Given the description of an element on the screen output the (x, y) to click on. 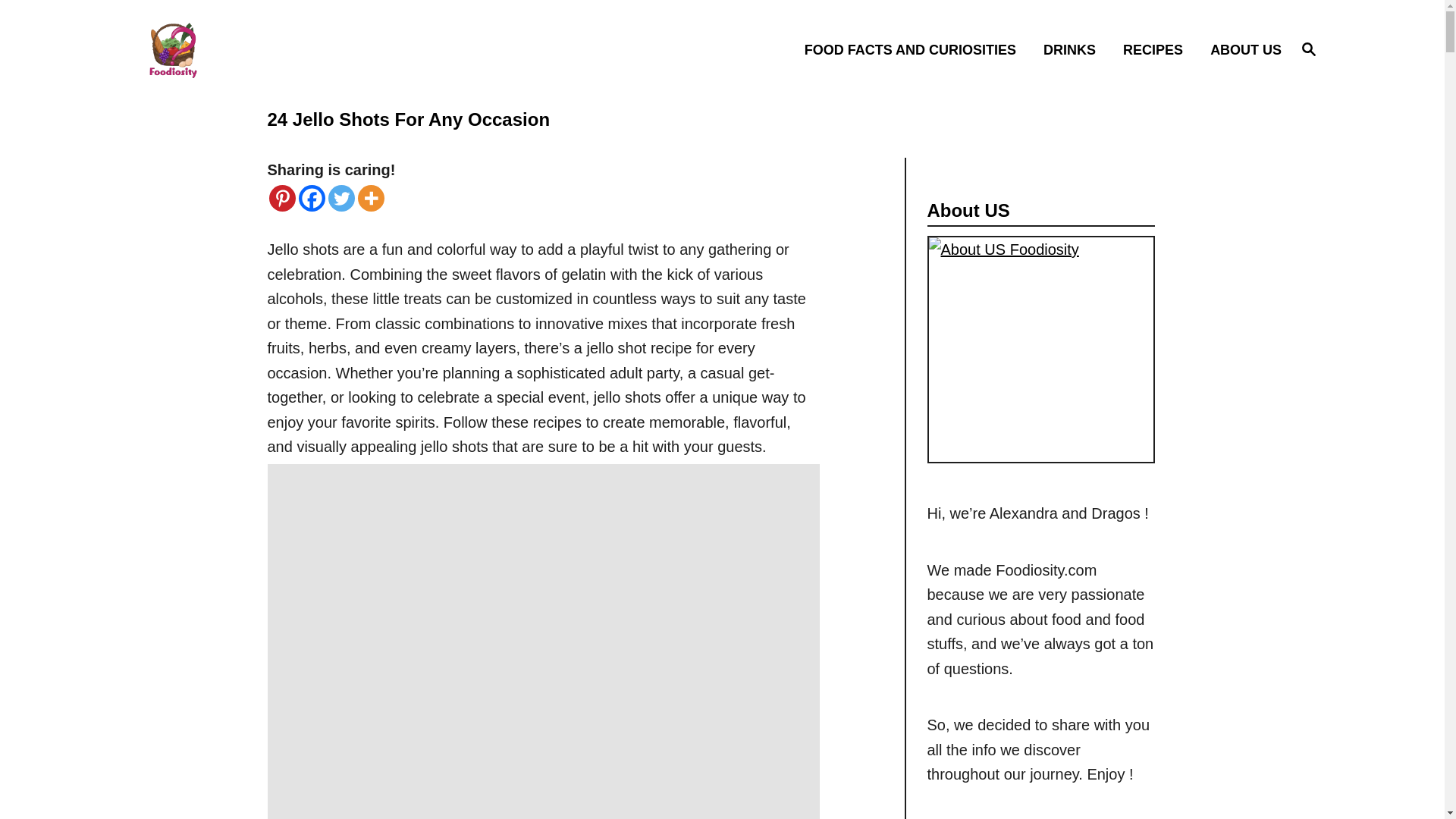
RECIPES (1157, 49)
Foodiosity (285, 49)
Pinterest (281, 198)
More (371, 198)
About US (1040, 349)
Magnifying Glass (1308, 48)
Facebook (1308, 49)
FOOD FACTS AND CURIOSITIES (311, 198)
Twitter (913, 49)
